Given the description of an element on the screen output the (x, y) to click on. 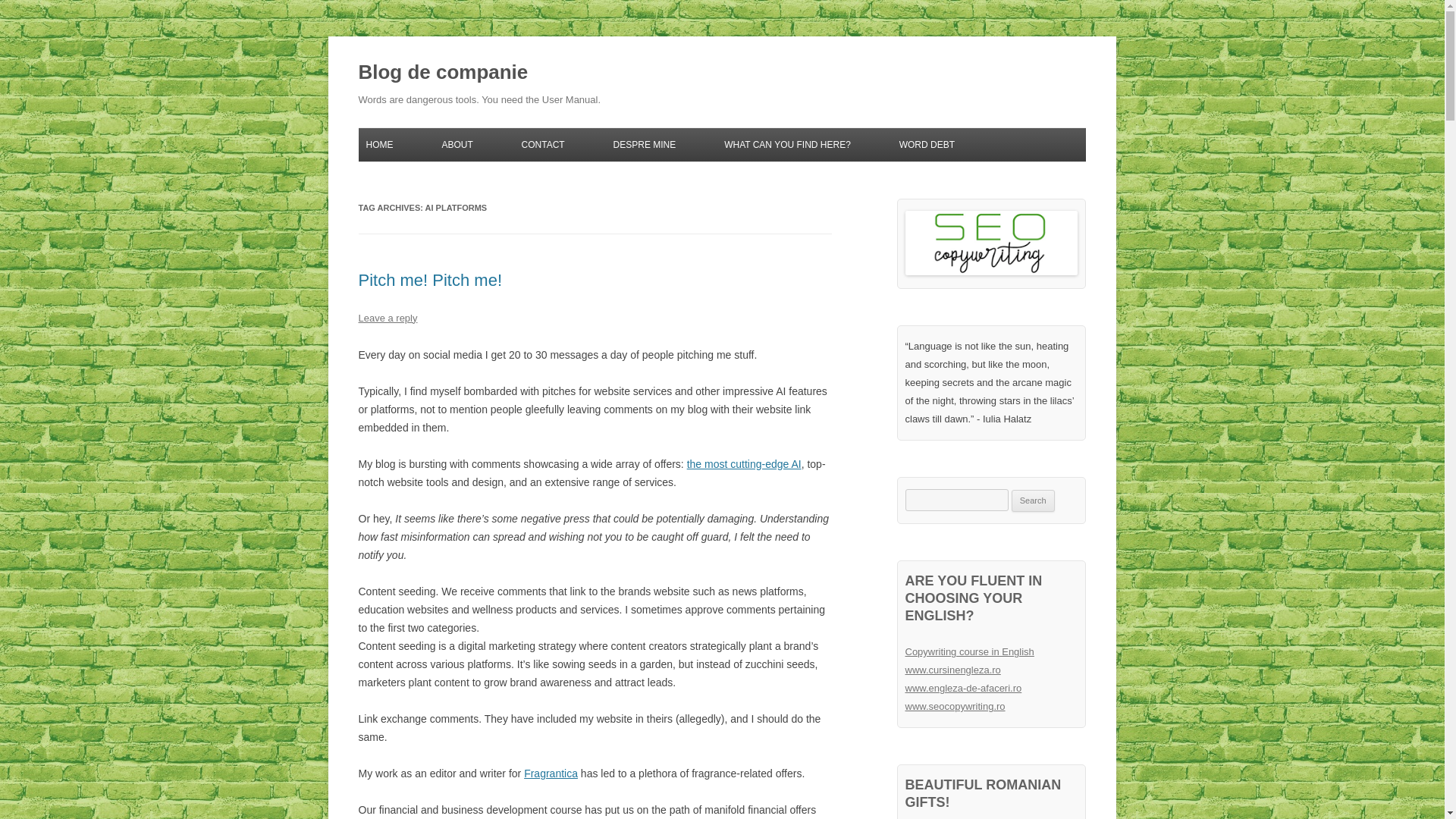
Pitch me! Pitch me! (430, 280)
the most cutting-edge AI (744, 463)
Copywriting course in English (969, 651)
www.cursinengleza.ro (953, 669)
Search (1032, 500)
CONTACT (542, 144)
www.engleza-de-afaceri.ro (963, 687)
Fragrantica (551, 773)
WHAT CAN YOU FIND HERE? (787, 144)
